Given the description of an element on the screen output the (x, y) to click on. 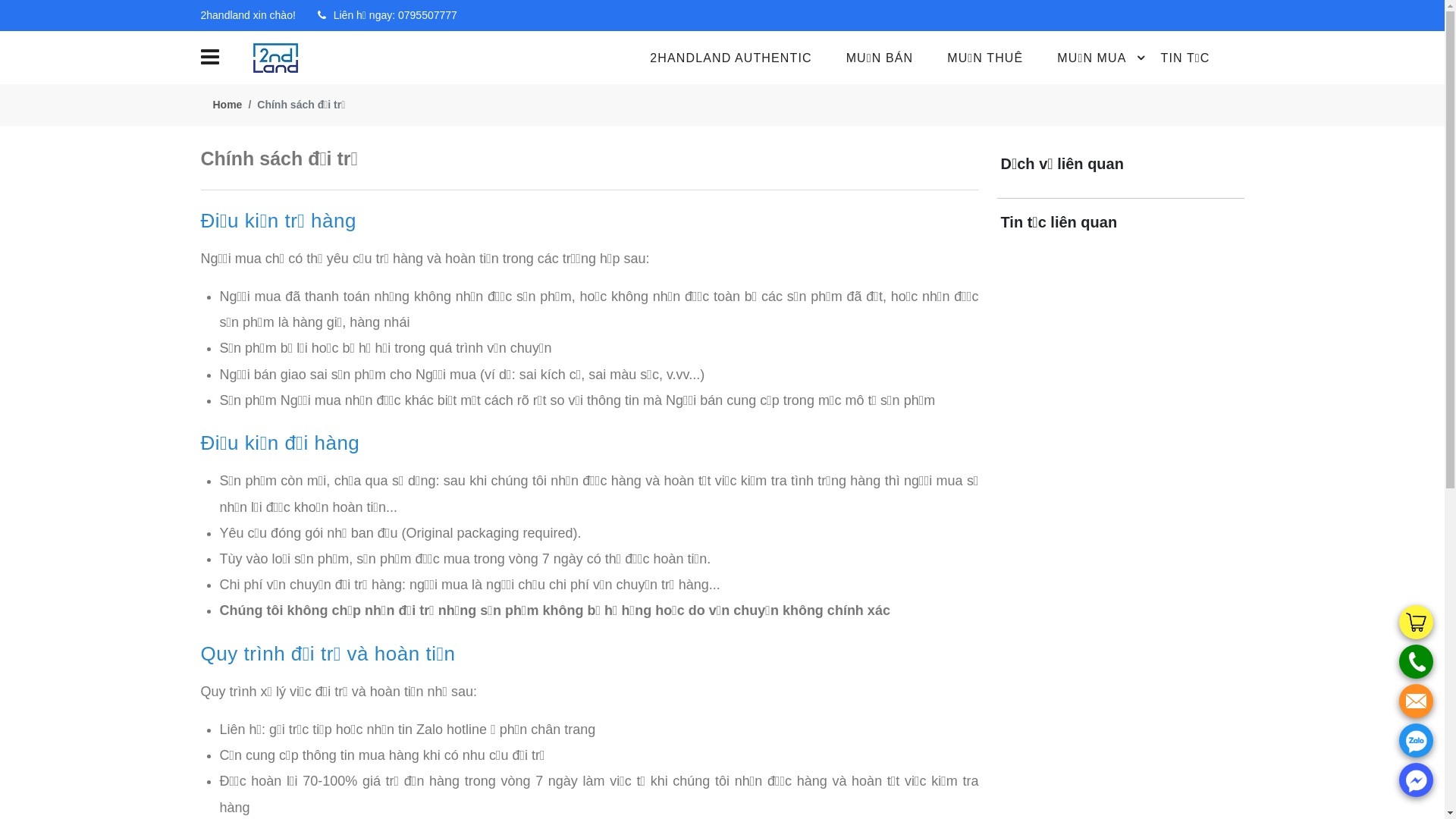
2HANDLAND AUTHENTIC Element type: text (747, 57)
. Element type: text (1416, 779)
. Element type: text (1416, 740)
. Element type: text (1416, 661)
. Element type: text (1416, 701)
Home Element type: text (226, 104)
. Element type: text (1416, 622)
